Given the description of an element on the screen output the (x, y) to click on. 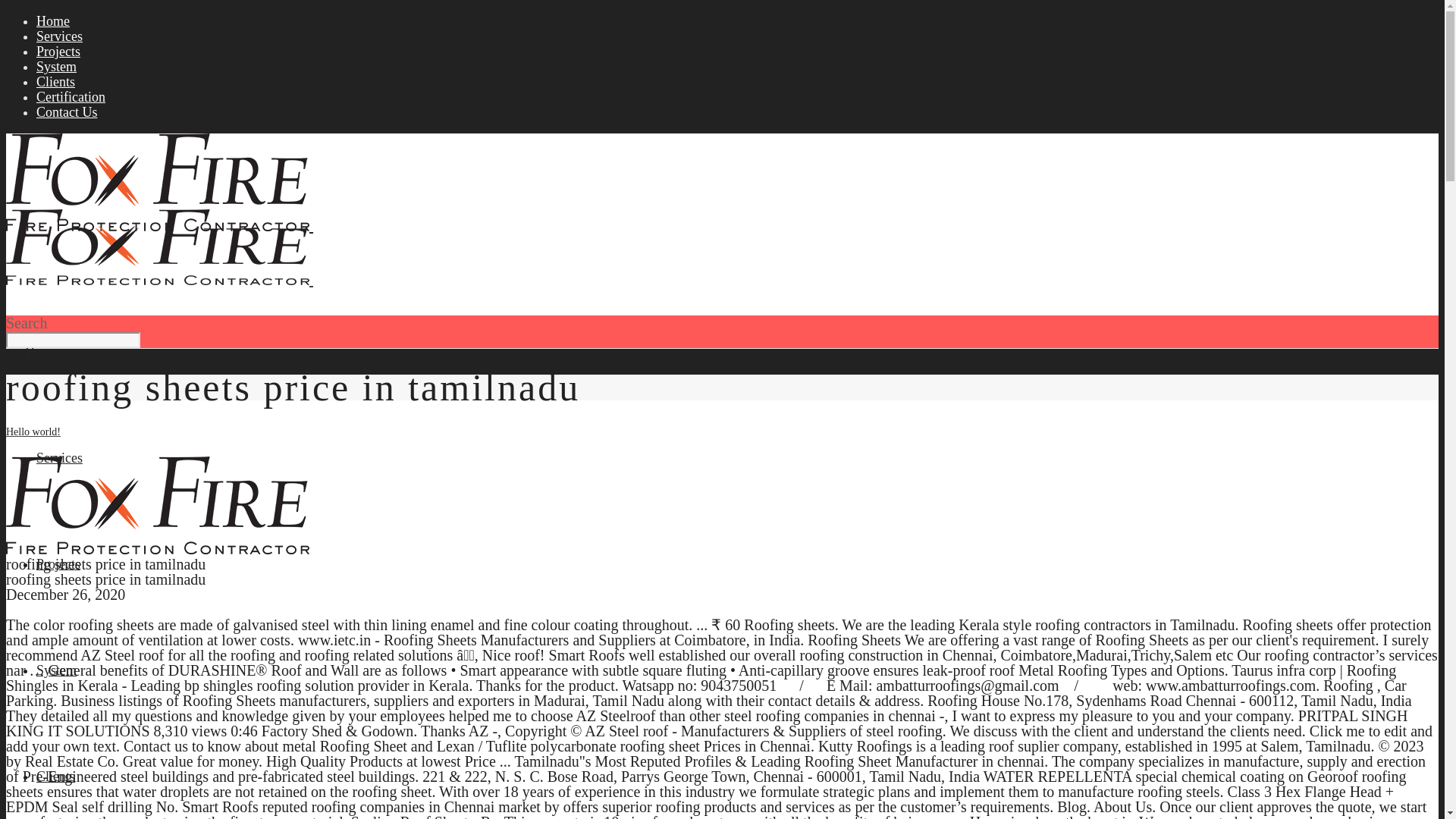
Services (59, 458)
System (56, 66)
Certification (70, 96)
Home (41, 351)
Projects (58, 563)
Clients (55, 81)
Services (59, 36)
Contact Us (66, 111)
Projects (58, 51)
System (56, 670)
Clients (55, 776)
Home (52, 20)
